Given the description of an element on the screen output the (x, y) to click on. 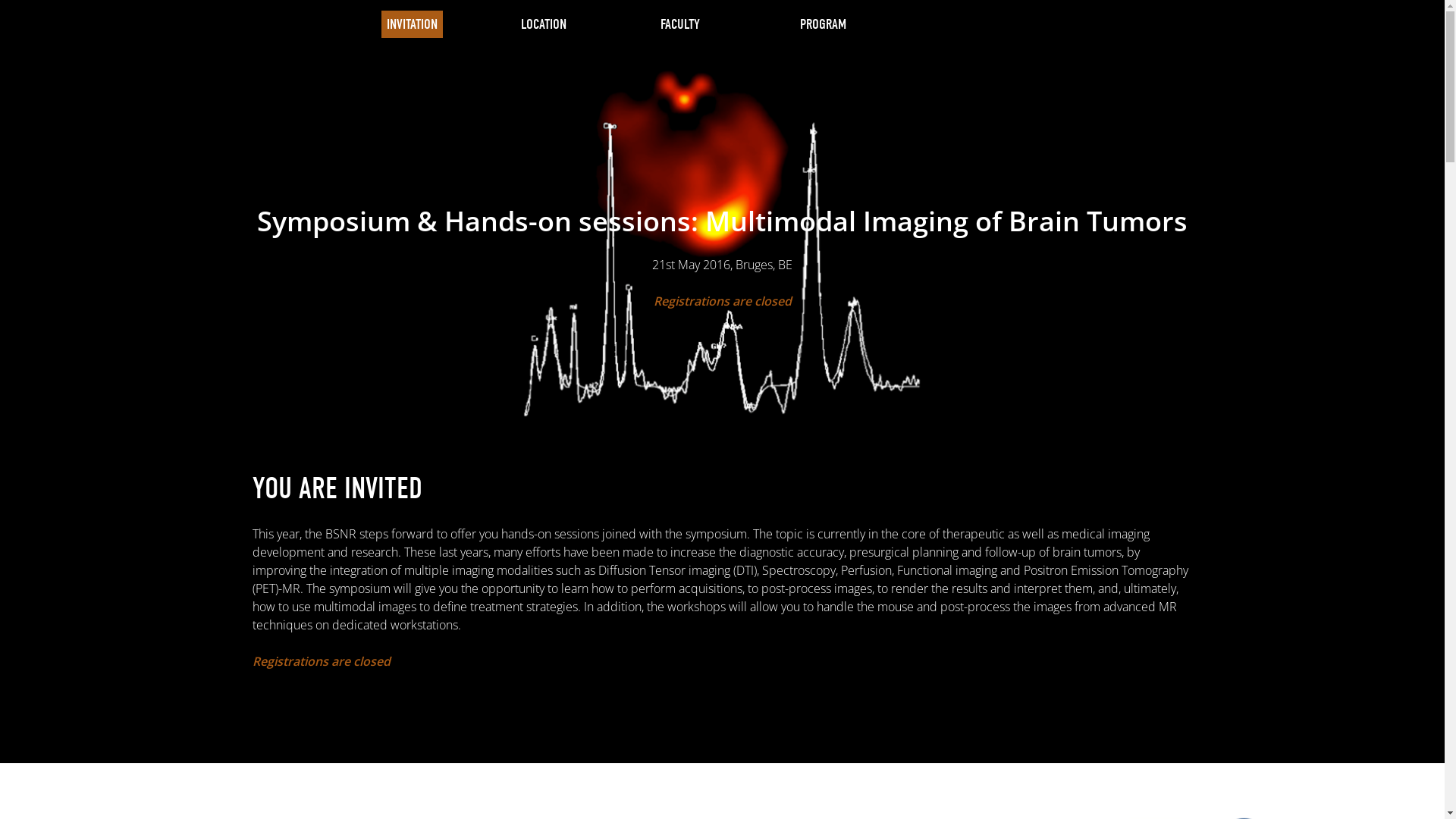
FACULTY Element type: text (679, 23)
LOCATION Element type: text (542, 23)
INVITATION Element type: text (411, 23)
PROGRAM Element type: text (822, 23)
